Given the description of an element on the screen output the (x, y) to click on. 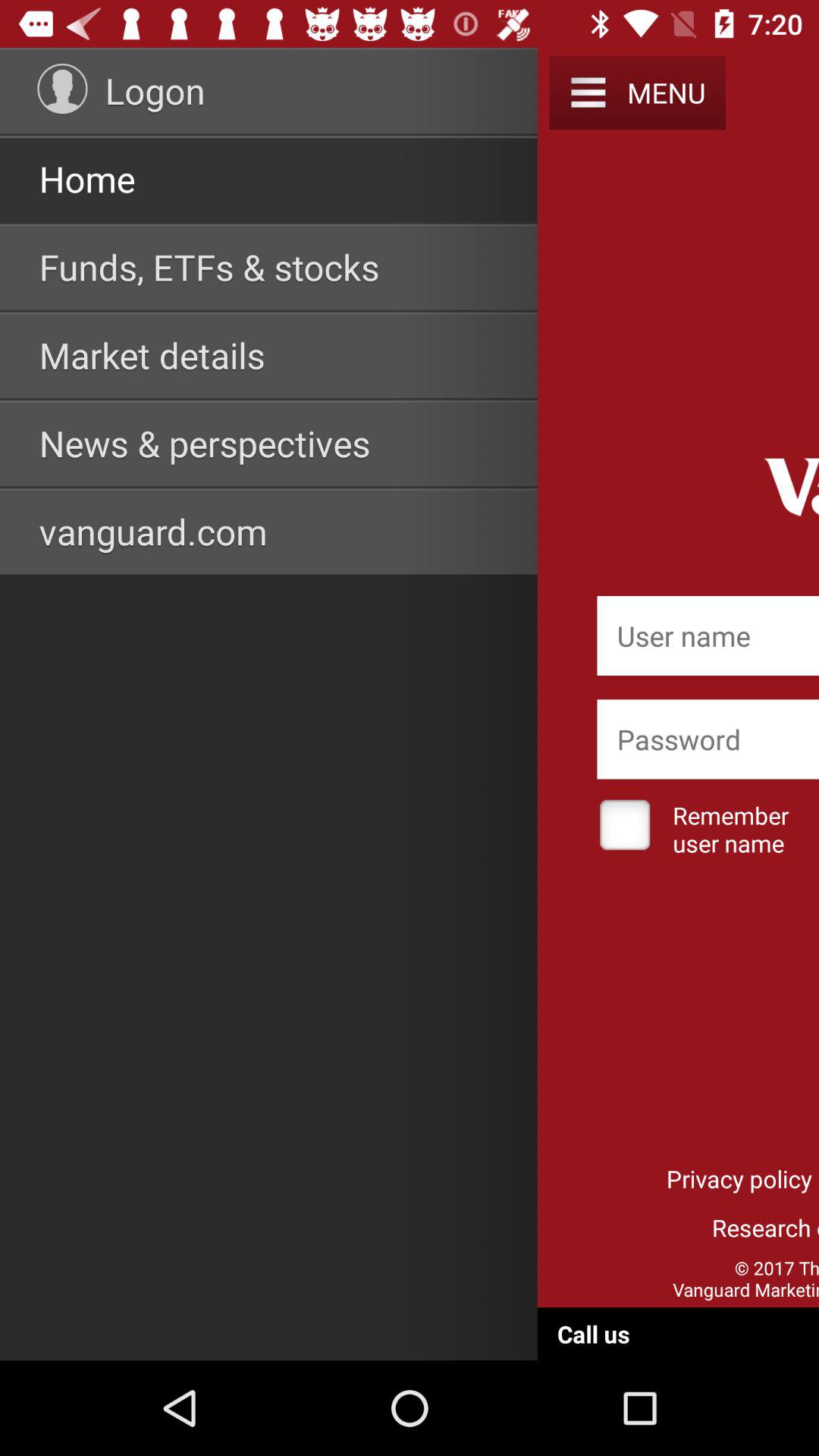
select the text above the text username (708, 739)
select  call us at the bottom of the page (593, 1334)
click on more options icon which is on the left side of menu (588, 92)
select check box which is before remember user name (624, 826)
select the text above the text passowrd (708, 635)
